Given the description of an element on the screen output the (x, y) to click on. 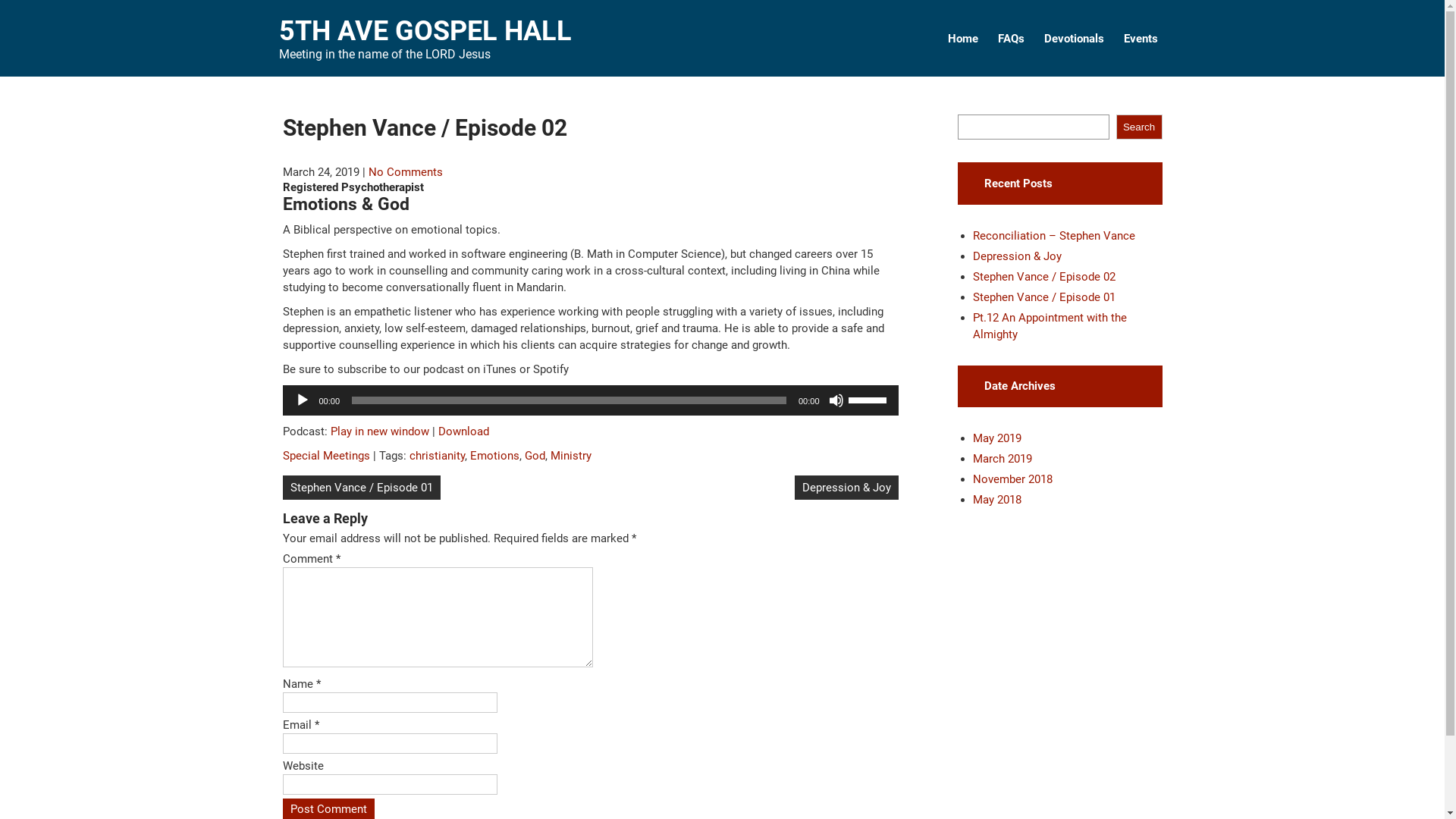
March 2019 Element type: text (1001, 458)
Home Element type: text (961, 38)
christianity Element type: text (436, 455)
Pt.12 An Appointment with the Almighty Element type: text (1049, 325)
Stephen Vance / Episode 01 Element type: text (360, 487)
Play Element type: hover (301, 399)
Stephen Vance / Episode 02 Element type: text (1043, 276)
Emotions Element type: text (494, 455)
Depression & Joy Element type: text (846, 487)
May 2019 Element type: text (996, 438)
God Element type: text (534, 455)
Search Element type: text (1139, 126)
Play in new window Element type: text (379, 431)
Download Element type: text (463, 431)
Events Element type: text (1139, 38)
May 2018 Element type: text (996, 499)
FAQs Element type: text (1010, 38)
5TH AVE GOSPEL HALL Element type: text (425, 31)
Devotionals Element type: text (1073, 38)
Depression & Joy Element type: text (1016, 255)
Use Up/Down Arrow keys to increase or decrease volume. Element type: text (868, 398)
November 2018 Element type: text (1011, 479)
No Comments Element type: text (405, 171)
Special Meetings Element type: text (325, 455)
Ministry Element type: text (570, 455)
Stephen Vance / Episode 01 Element type: text (1043, 296)
Mute Element type: hover (835, 399)
